Given the description of an element on the screen output the (x, y) to click on. 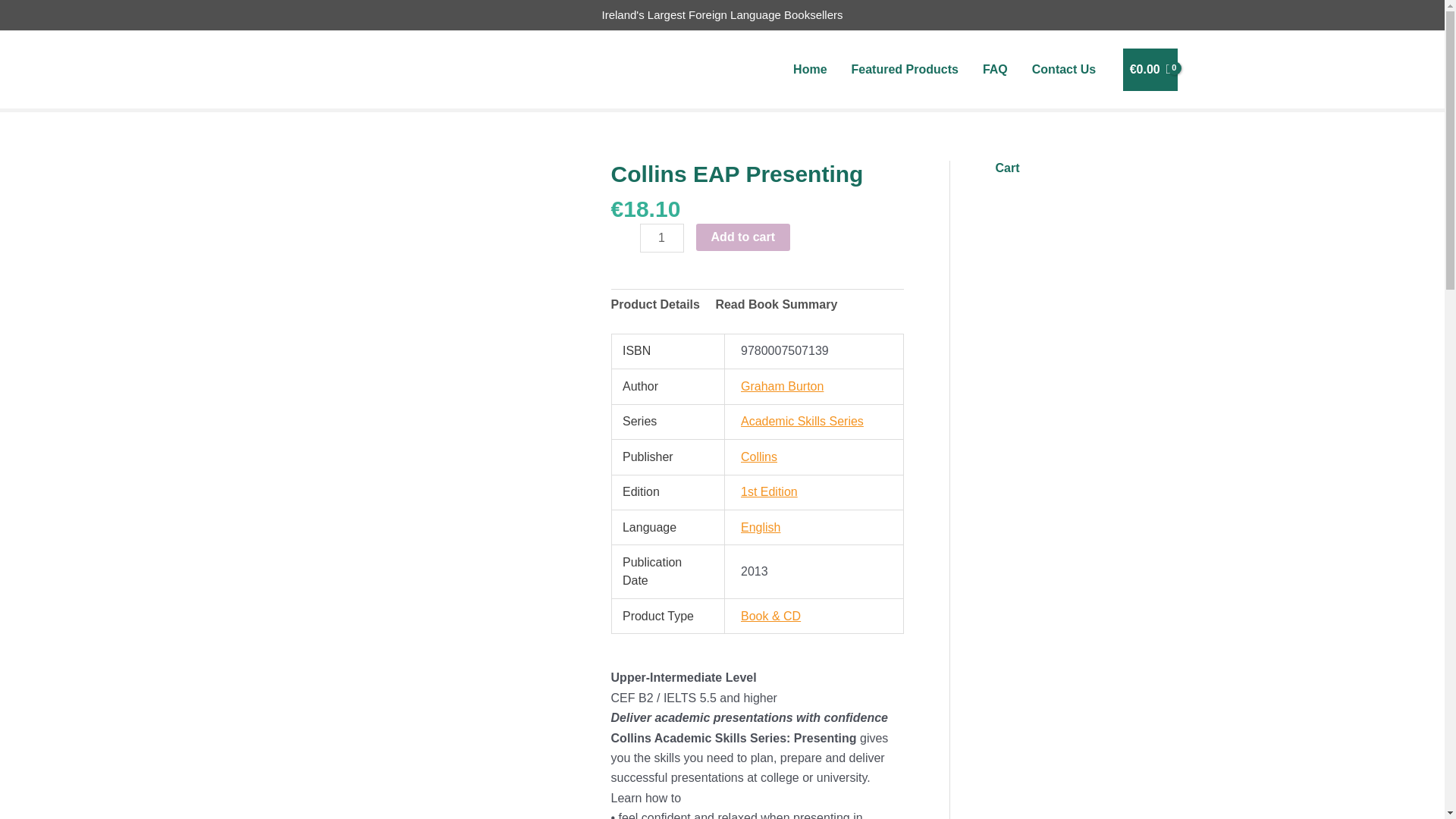
FAQ (995, 69)
Academic Skills Series (802, 420)
Add to cart (742, 236)
1st Edition (769, 491)
Graham Burton (782, 386)
Product Details (655, 305)
Collins (759, 456)
Contact Us (1064, 69)
1 (662, 237)
Home (809, 69)
